Given the description of an element on the screen output the (x, y) to click on. 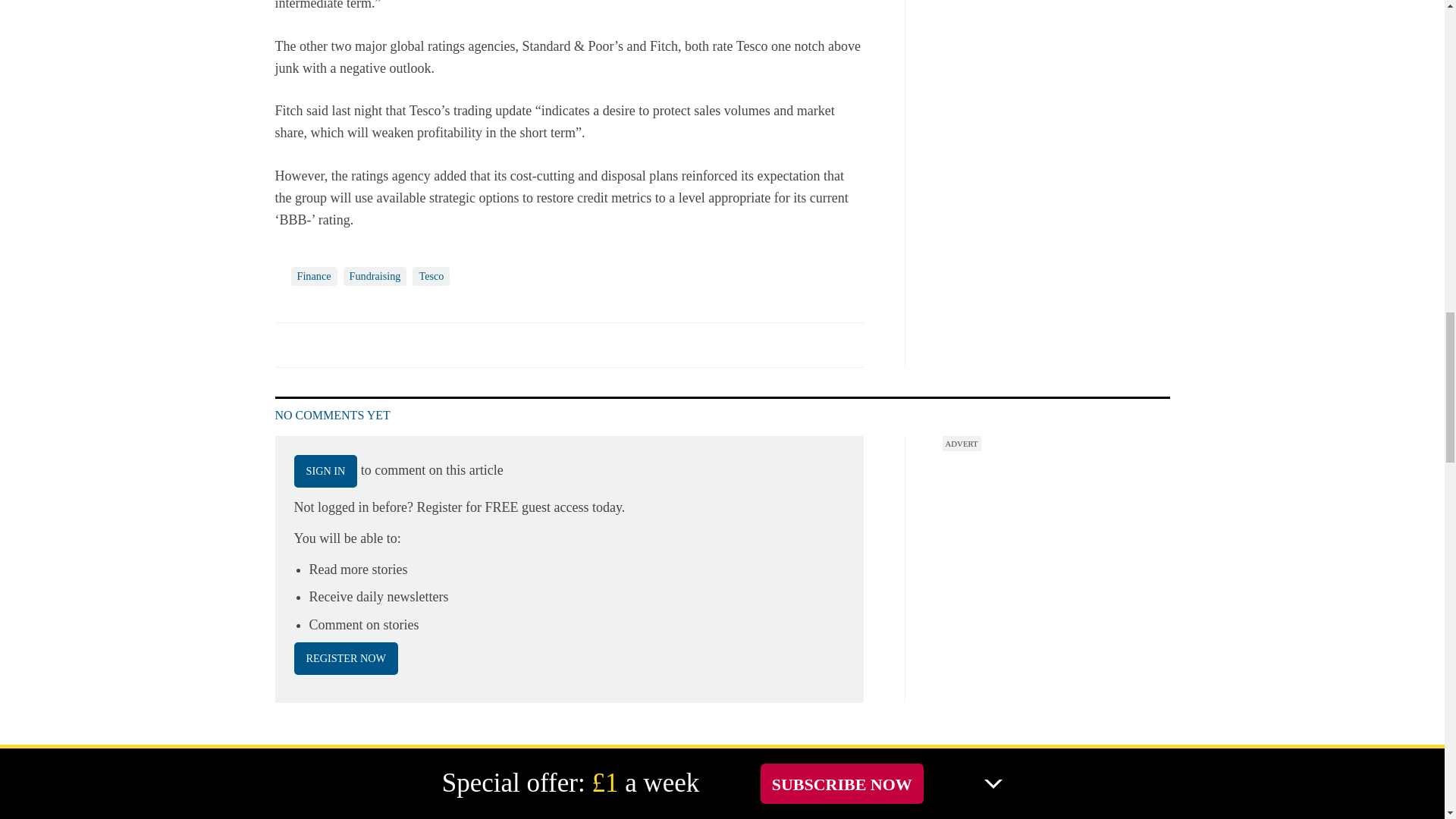
Email this article (386, 343)
Share this on Twitter (320, 343)
No comments (812, 353)
Share this on Linked in (352, 343)
Share this on Facebook (288, 343)
